Given the description of an element on the screen output the (x, y) to click on. 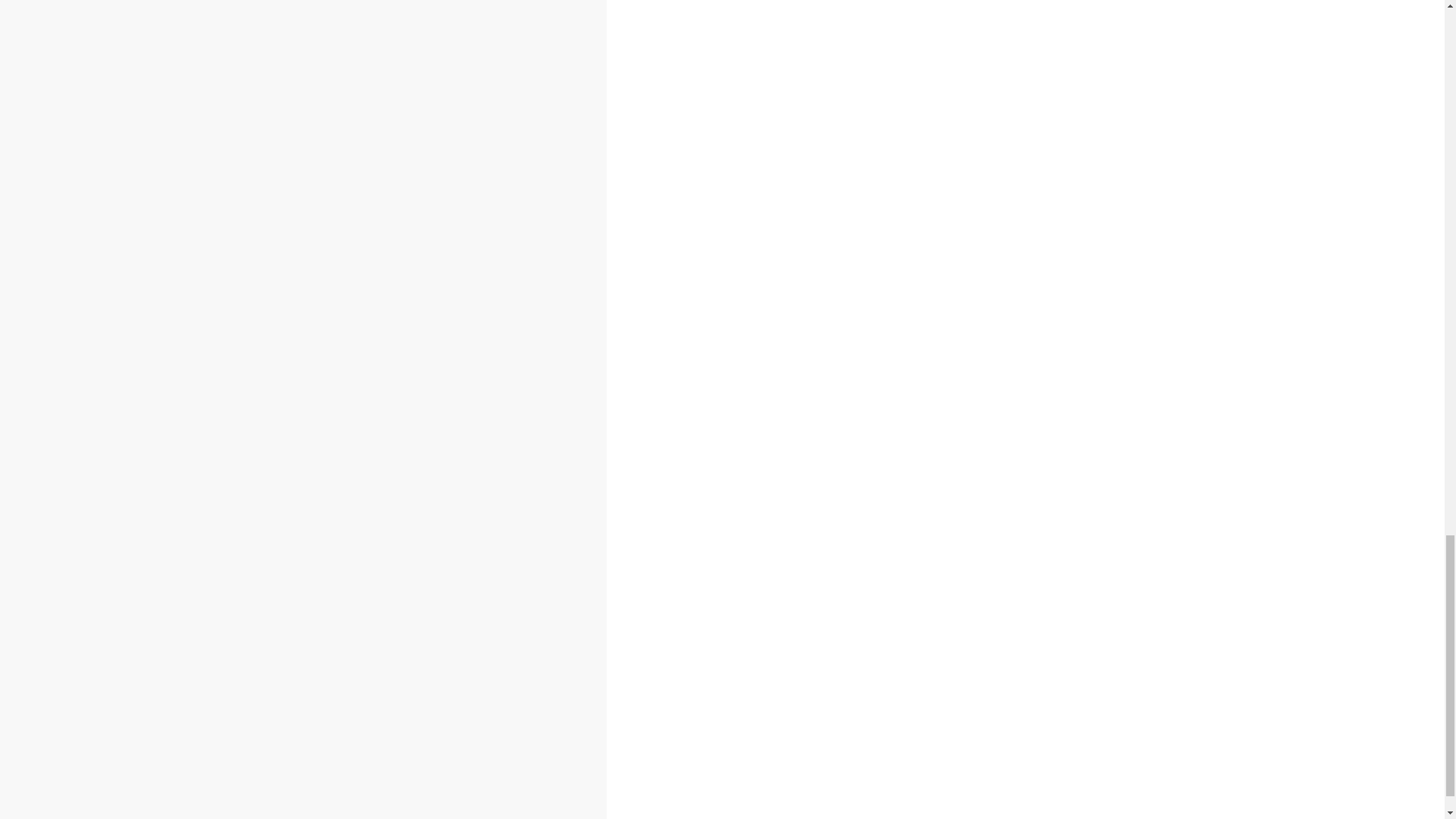
May 2023 (270, 158)
Saturday (206, 434)
Sunday (233, 434)
Thursday (155, 434)
February 2024 (281, 6)
November 2022 (286, 260)
June 2023 (271, 141)
September 2022 (288, 294)
September 2023 (288, 90)
November 2023 (286, 56)
